Given the description of an element on the screen output the (x, y) to click on. 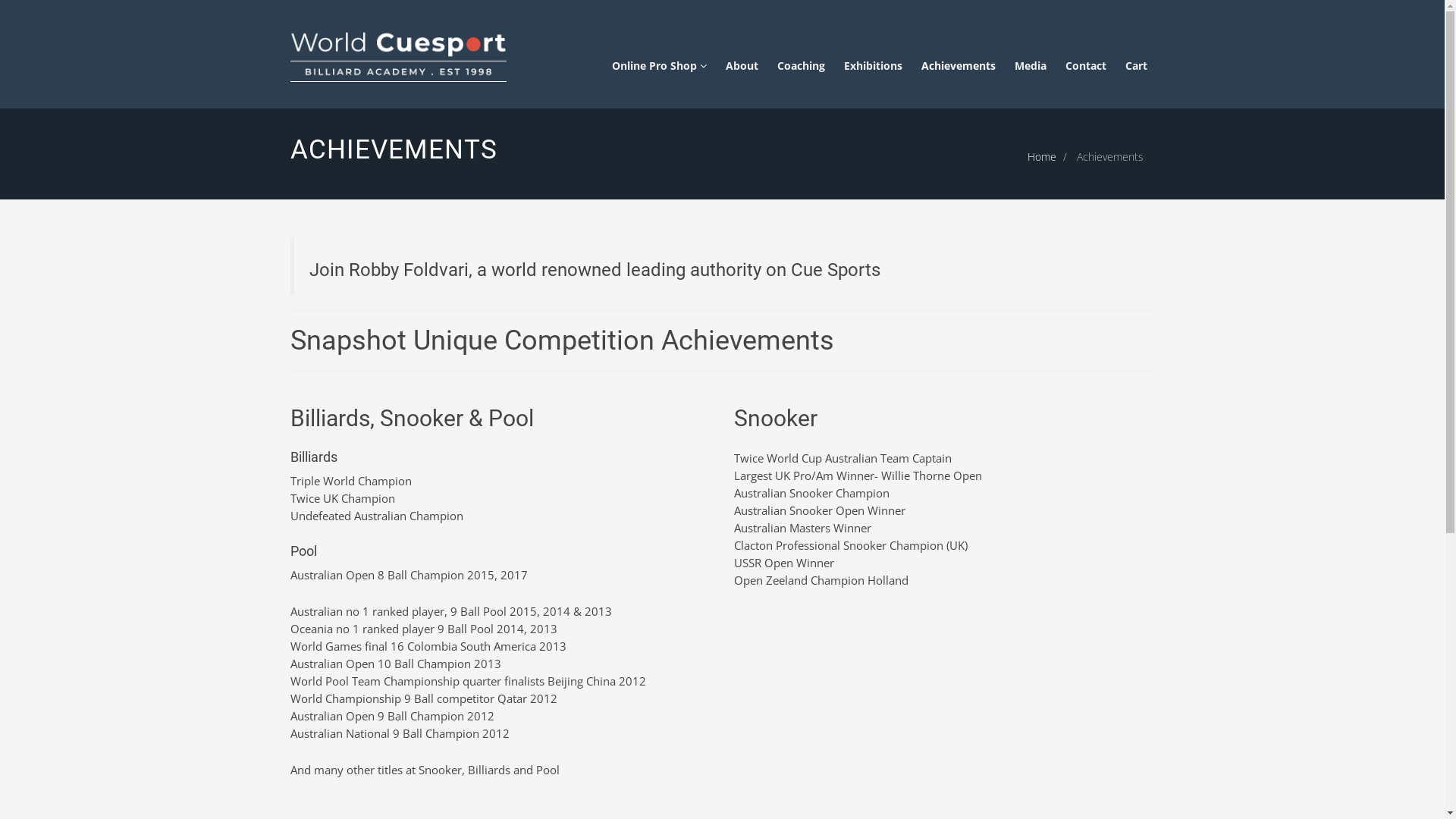
Media Element type: text (1030, 65)
Home Element type: text (1040, 156)
Exhibitions Element type: text (872, 65)
Coaching Element type: text (799, 65)
Cart Element type: text (1135, 65)
Contact Element type: text (1085, 65)
About Element type: text (741, 65)
Online Pro Shop Element type: text (658, 65)
Achievements Element type: text (957, 65)
